Given the description of an element on the screen output the (x, y) to click on. 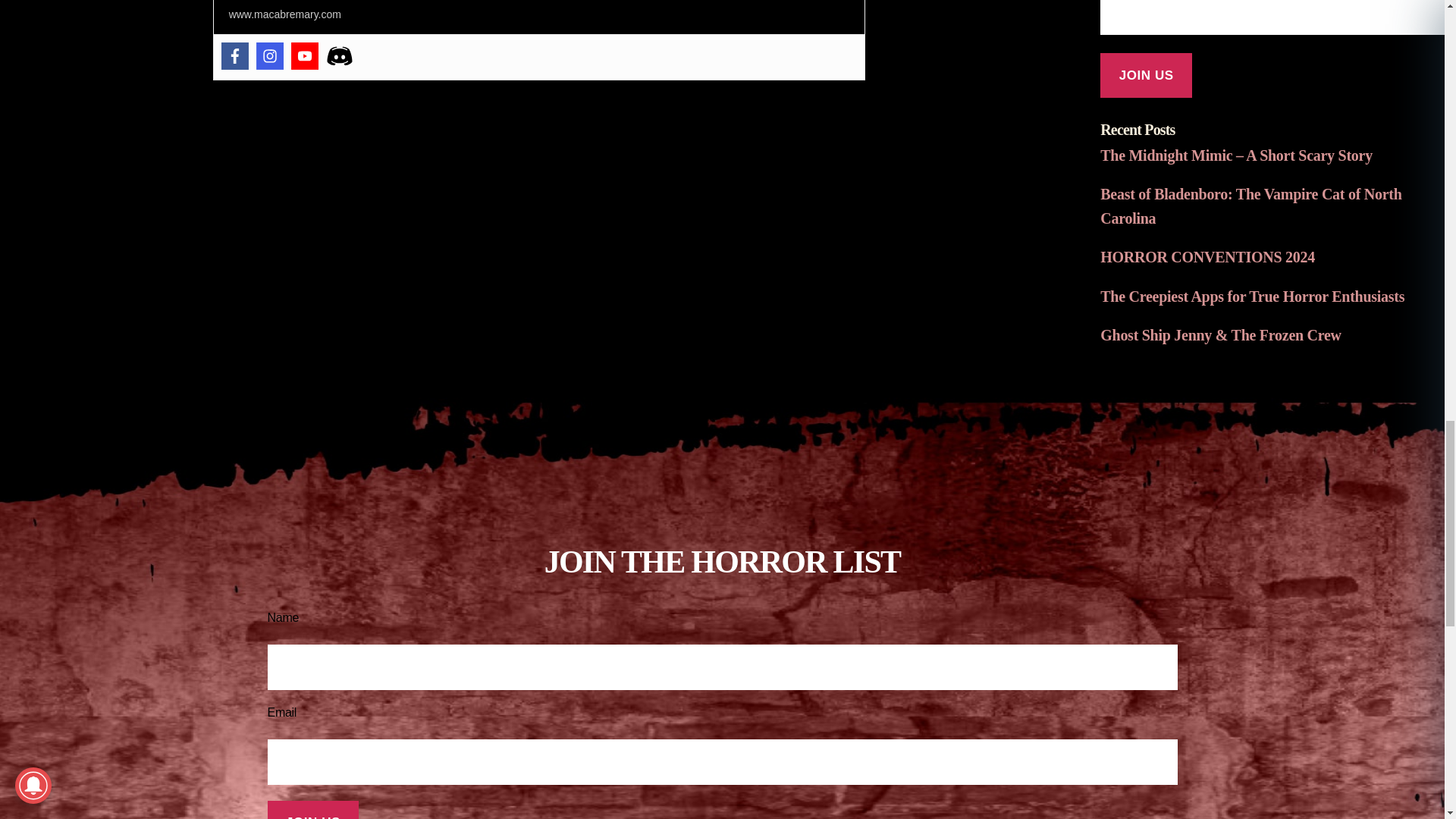
Join Us (312, 809)
Join Us (1146, 75)
Facebook (234, 55)
Discord (339, 55)
Instagram (269, 55)
Youtube (304, 55)
